Given the description of an element on the screen output the (x, y) to click on. 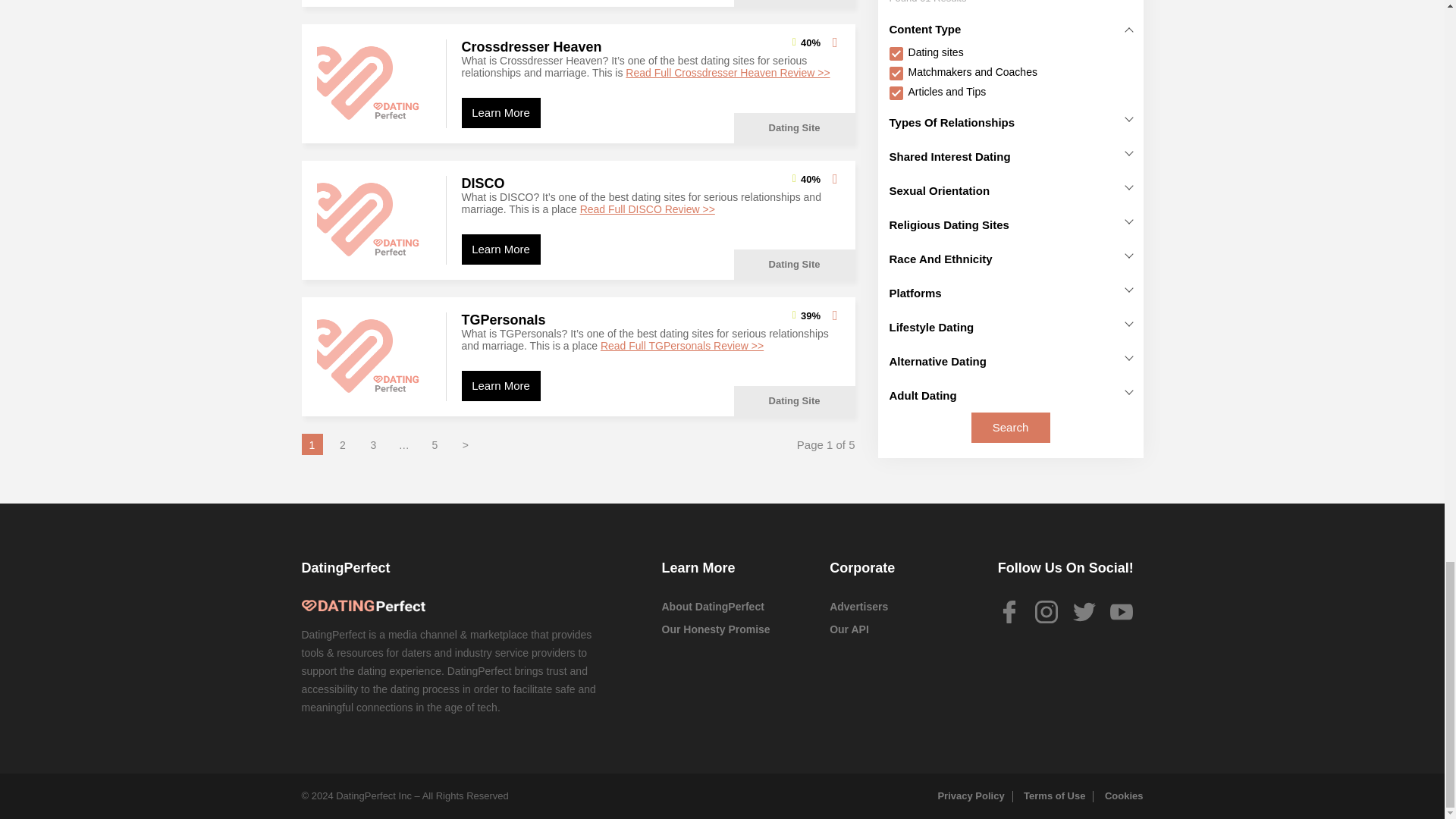
Crossdresser Heaven (373, 83)
DISCO (373, 220)
TGPersonals (373, 356)
